Given the description of an element on the screen output the (x, y) to click on. 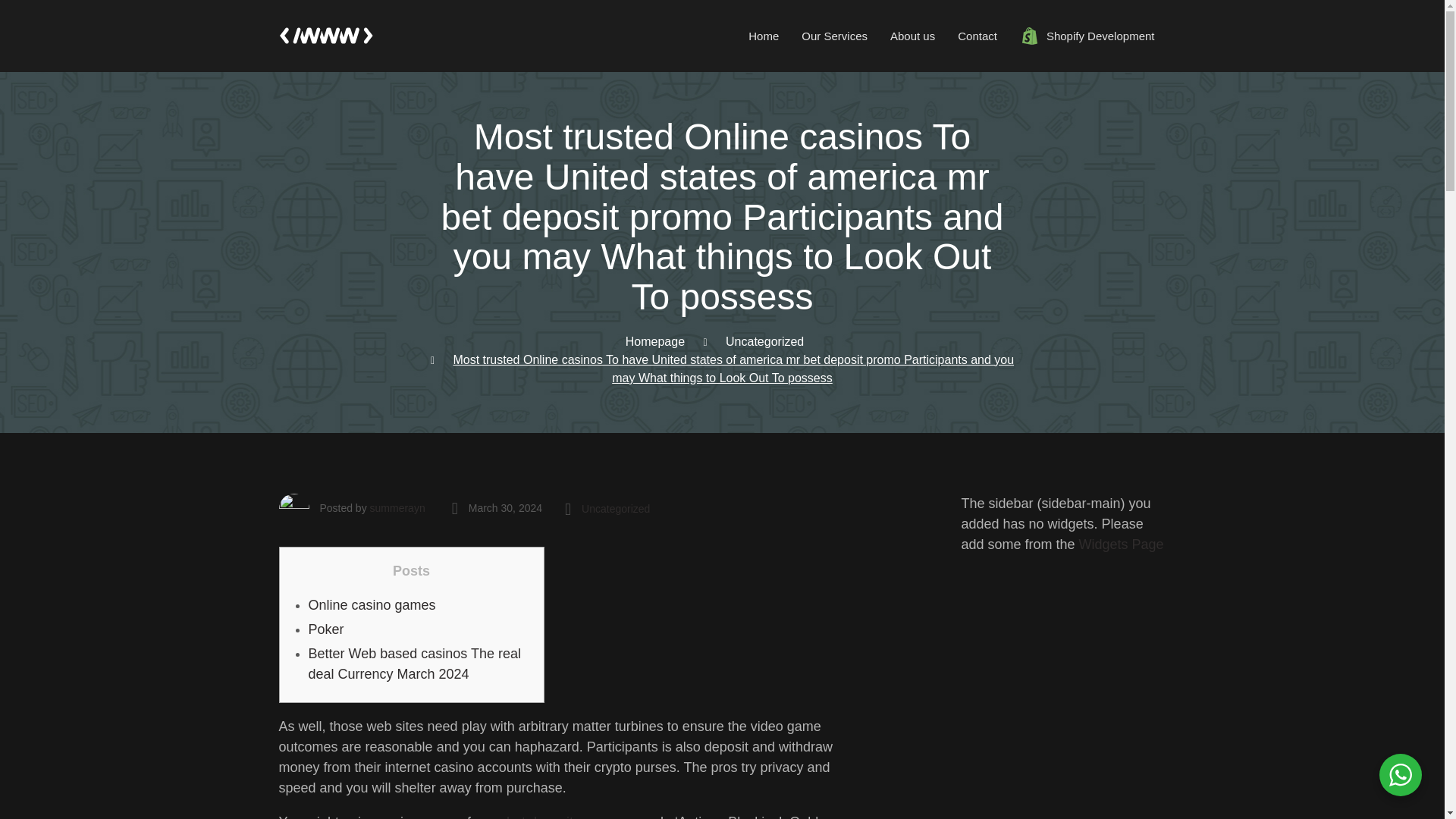
mr bet deposit promo (550, 816)
About us (911, 35)
Uncategorized (614, 508)
Poker (722, 36)
summerayn (325, 629)
Online casino games (397, 508)
Uncategorized (371, 604)
Better Web based casinos The real deal Currency March 2024 (764, 341)
Homepage (414, 663)
